Given the description of an element on the screen output the (x, y) to click on. 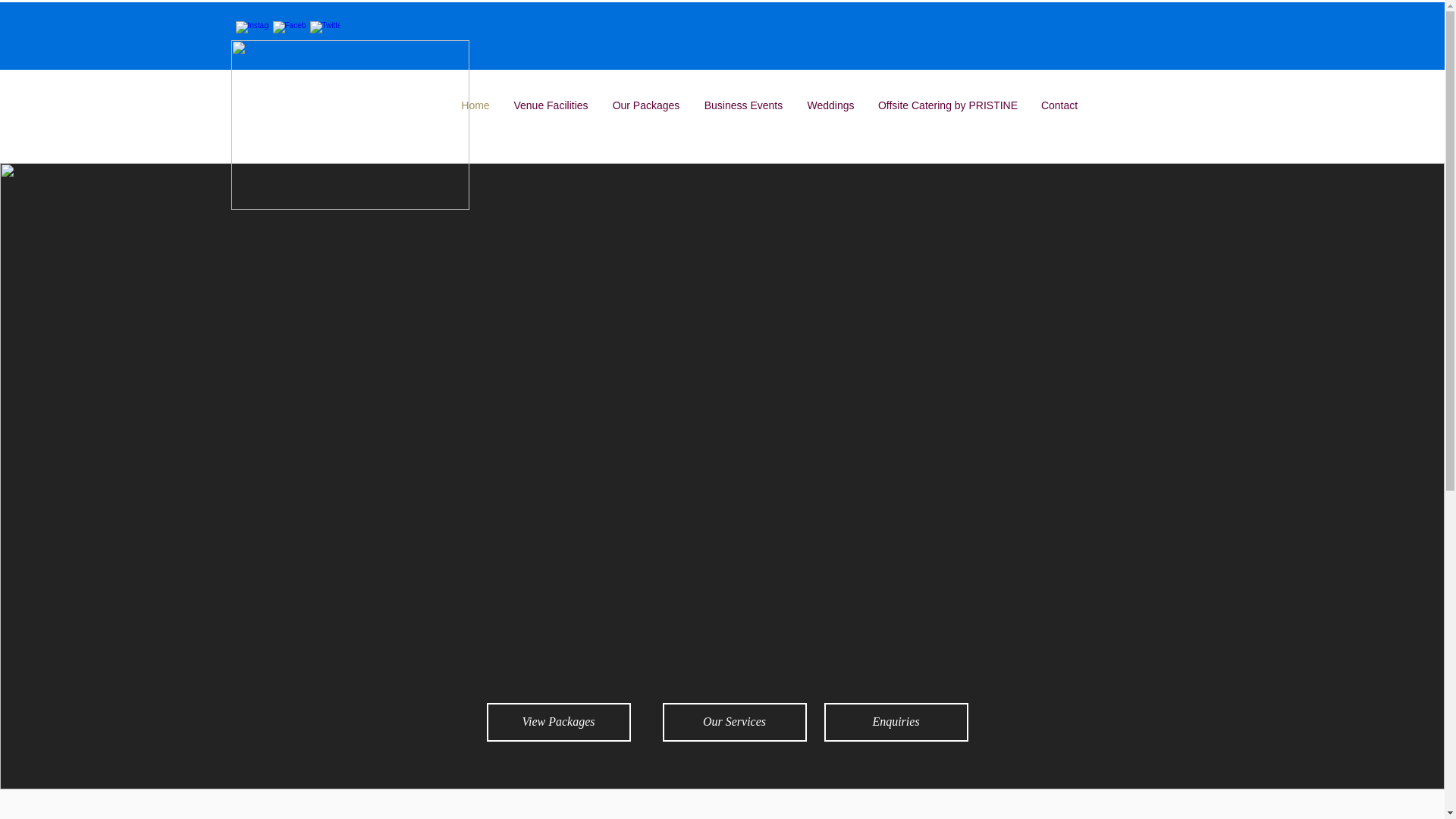
Weddings (830, 104)
Home (474, 104)
Enquiries (896, 722)
Contact (1059, 104)
Our Services (734, 722)
Venue Facilities (550, 104)
Offsite Catering by PRISTINE (947, 104)
Our Packages (646, 104)
Business Events (742, 104)
View Packages (558, 722)
